Given the description of an element on the screen output the (x, y) to click on. 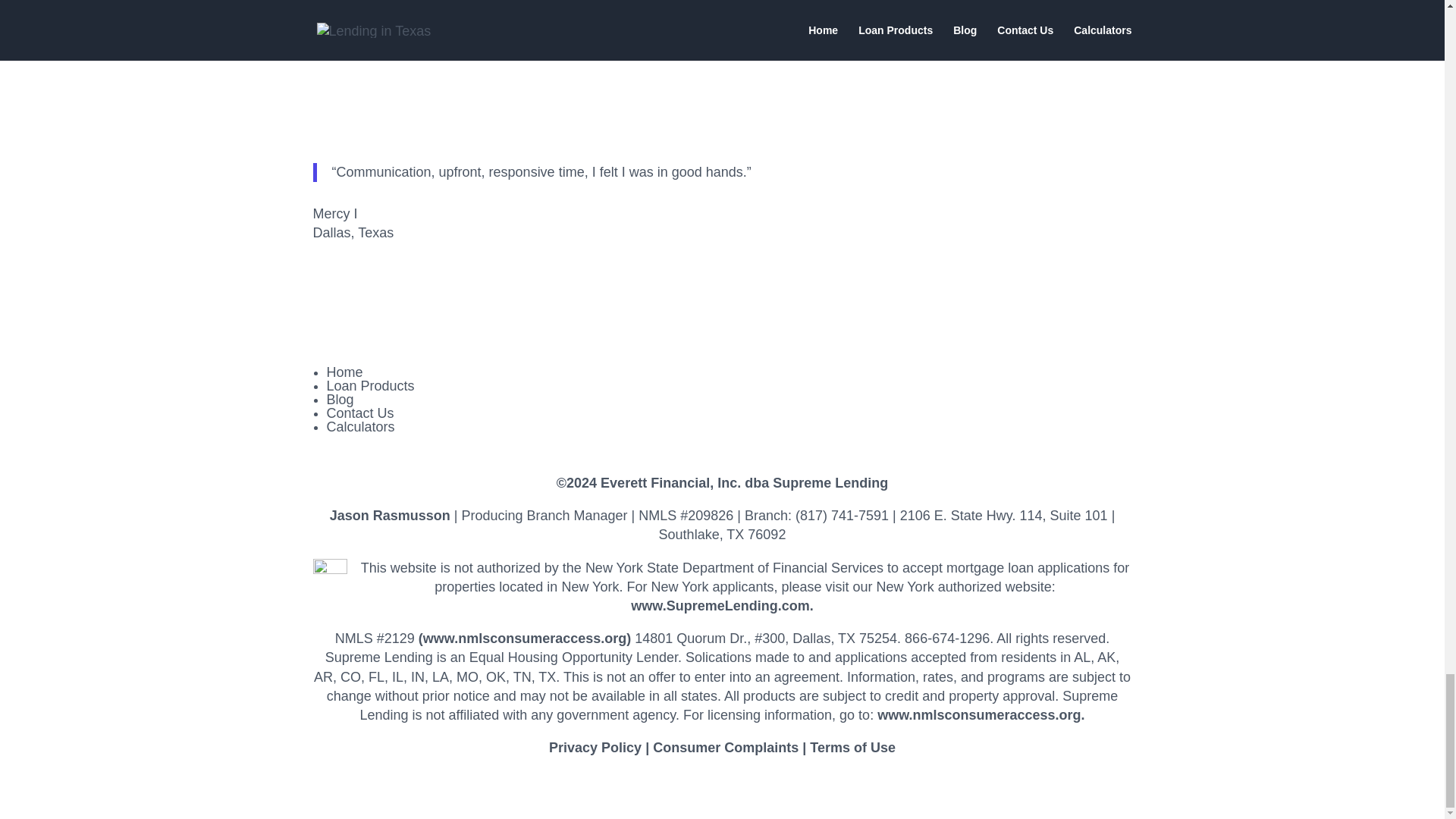
Loan Products (369, 385)
www.SupremeLending.com (719, 605)
Consumer Complaints (724, 747)
www.nmlsconsumeraccess.org (524, 638)
Home (344, 372)
Contact Us (359, 412)
Blog (339, 399)
Calculators (360, 426)
Privacy Policy (595, 747)
www.nmlsconsumeraccess.org. (980, 714)
